Given the description of an element on the screen output the (x, y) to click on. 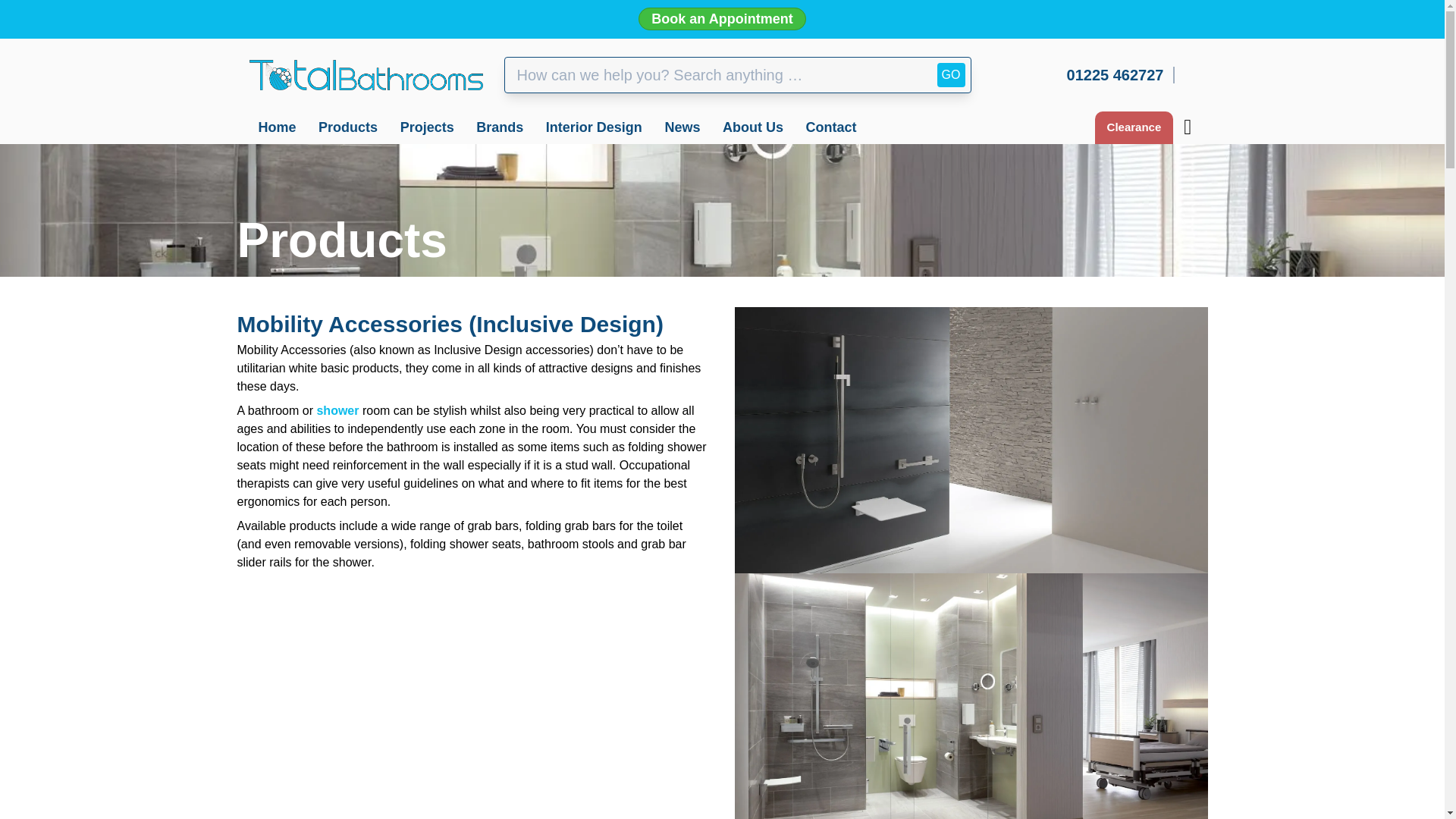
About Us (752, 127)
Home (276, 127)
Interior Design (594, 127)
GO (951, 74)
01225 462727 (1120, 74)
News (681, 127)
Brands (499, 127)
Products (347, 127)
Projects (427, 127)
